Given the description of an element on the screen output the (x, y) to click on. 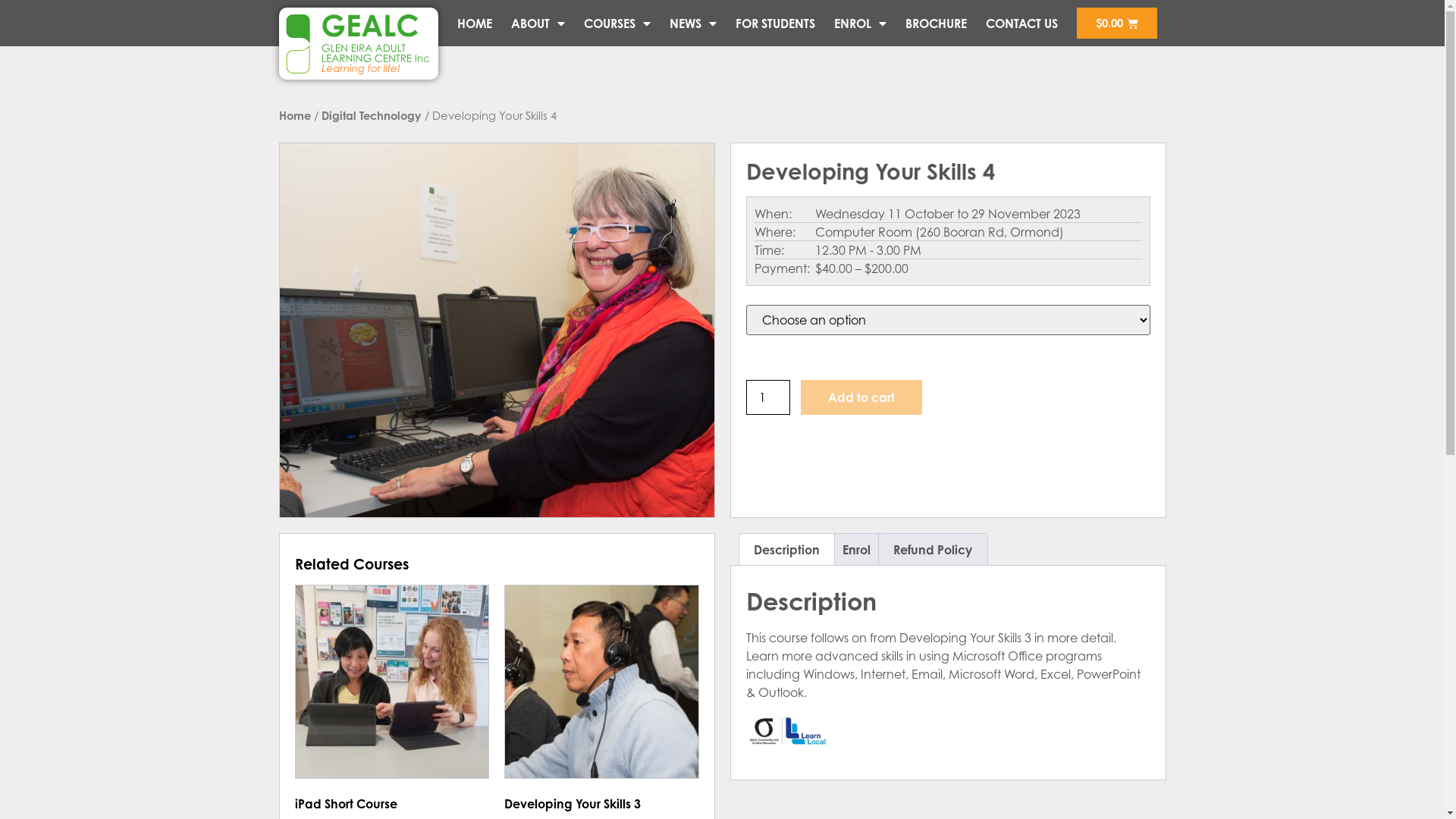
Digital Technology Element type: text (371, 115)
BROCHURE Element type: text (935, 22)
$0.00 Element type: text (1116, 22)
Home Element type: text (294, 115)
NEWS Element type: text (693, 22)
Description Element type: text (785, 549)
ABOUT Element type: text (537, 22)
COURSES Element type: text (617, 22)
FOR STUDENTS Element type: text (775, 22)
Refund Policy Element type: text (932, 549)
ENROL Element type: text (860, 22)
Add to cart Element type: text (861, 396)
Enrol Element type: text (856, 549)
HOME Element type: text (474, 22)
CONTACT US Element type: text (1021, 22)
